Given the description of an element on the screen output the (x, y) to click on. 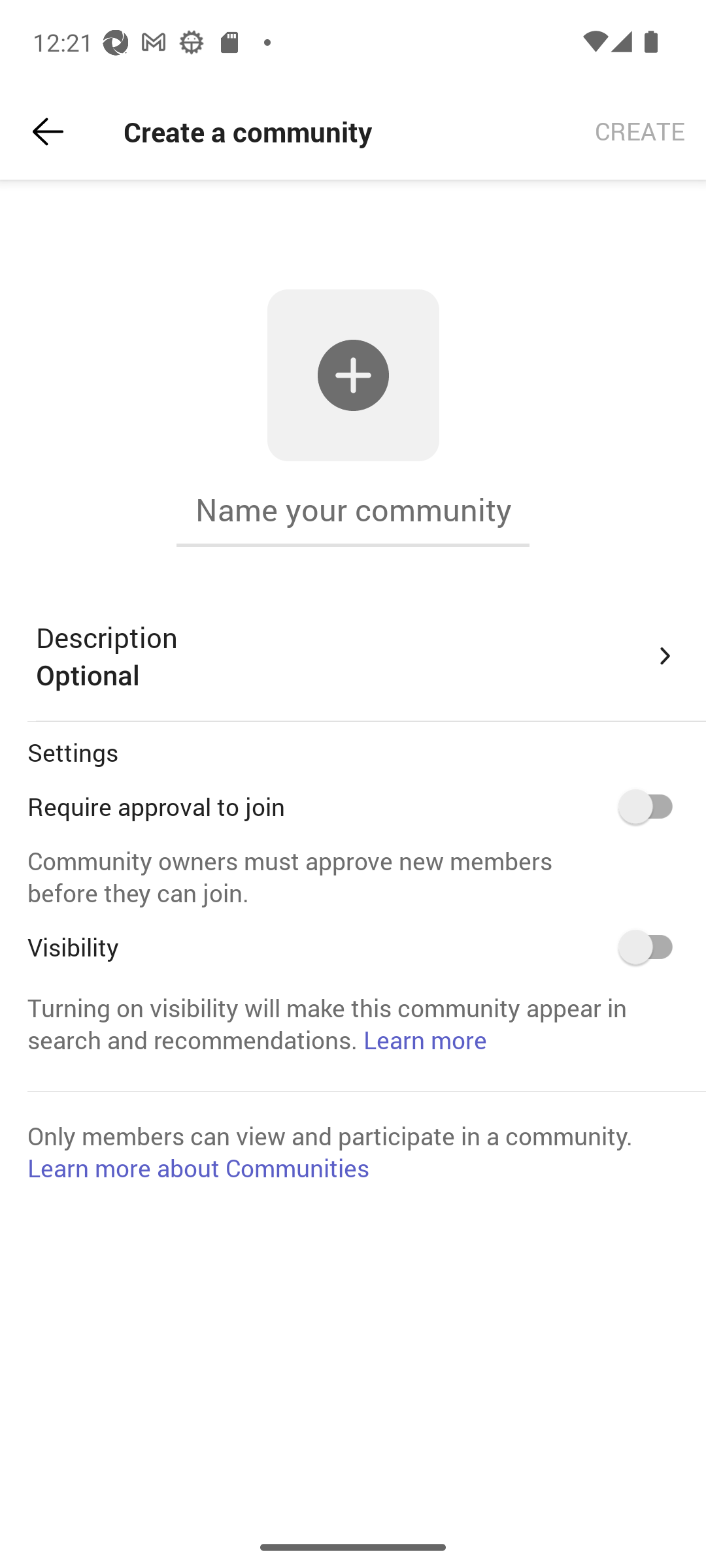
Back (48, 131)
CREATE (639, 131)
Add community image (353, 375)
Name your community (352, 509)
Description Optional (357, 656)
Require approval to join (652, 806)
Visibility (652, 946)
